Given the description of an element on the screen output the (x, y) to click on. 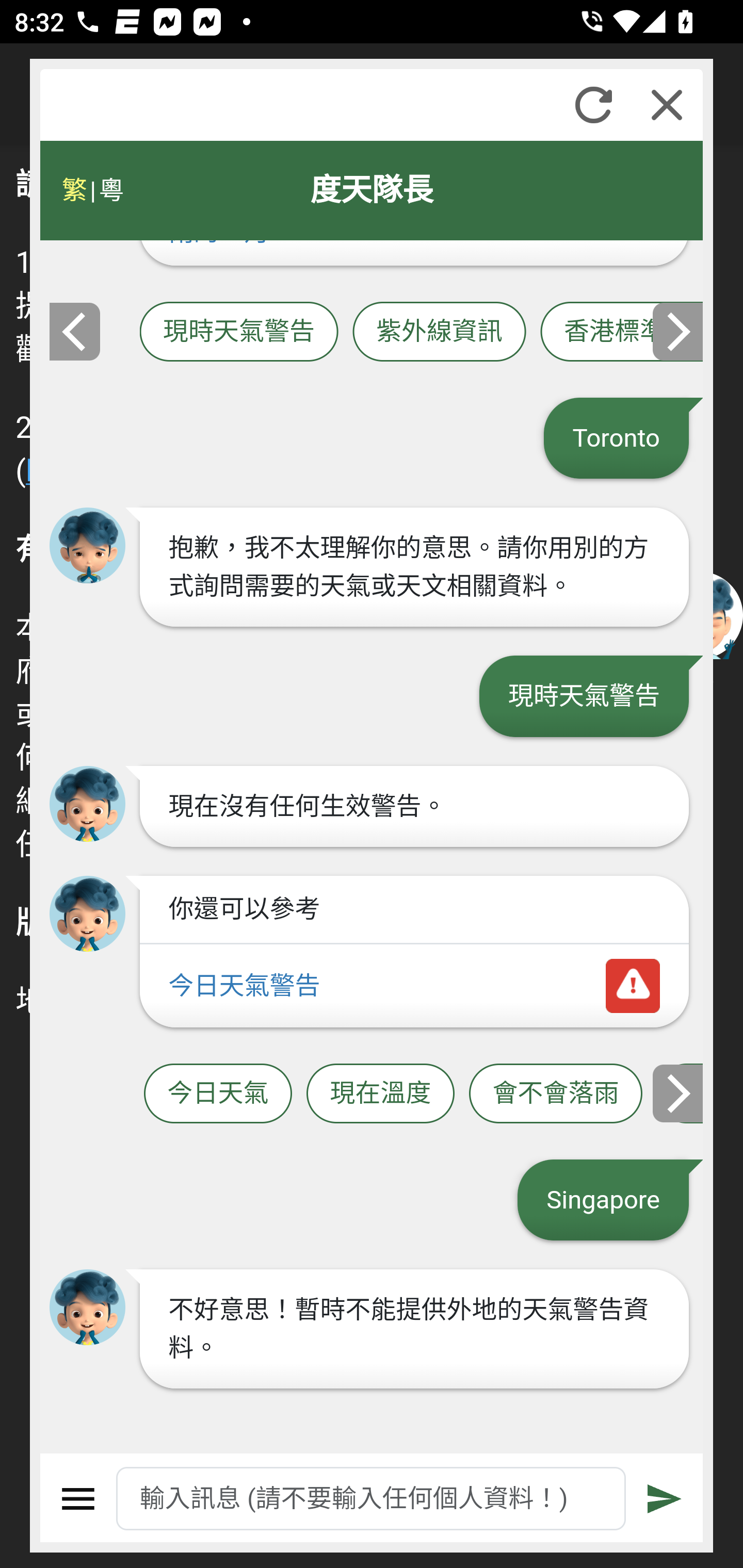
重新整理 (593, 104)
關閉 (666, 104)
繁 (73, 190)
粵 (110, 190)
上一張 (74, 331)
現時天氣警告 (238, 331)
紫外線資訊 (438, 331)
下一張 (678, 331)
今日天氣警告 (413, 985)
今日天氣 (217, 1093)
現在溫度 (380, 1093)
會不會落雨 (555, 1093)
下一張 (678, 1092)
選單 (78, 1498)
遞交 (665, 1498)
